Given the description of an element on the screen output the (x, y) to click on. 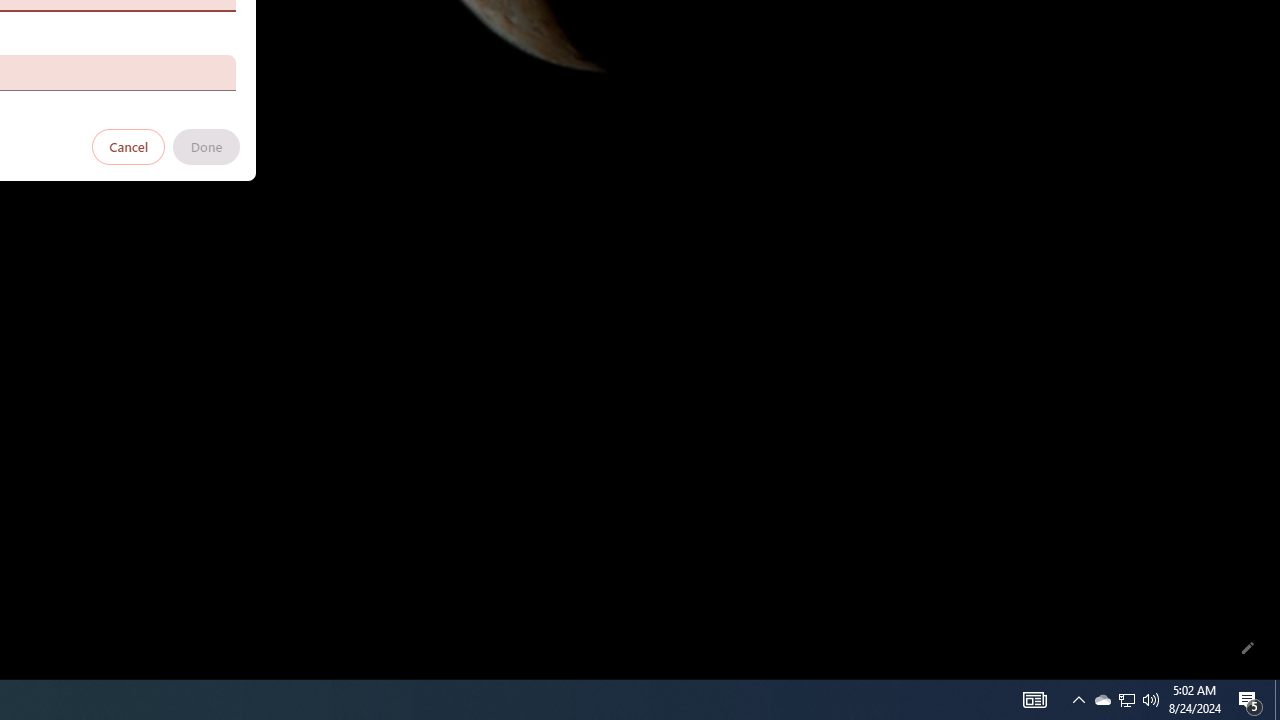
Done (206, 146)
Cancel (129, 146)
